Given the description of an element on the screen output the (x, y) to click on. 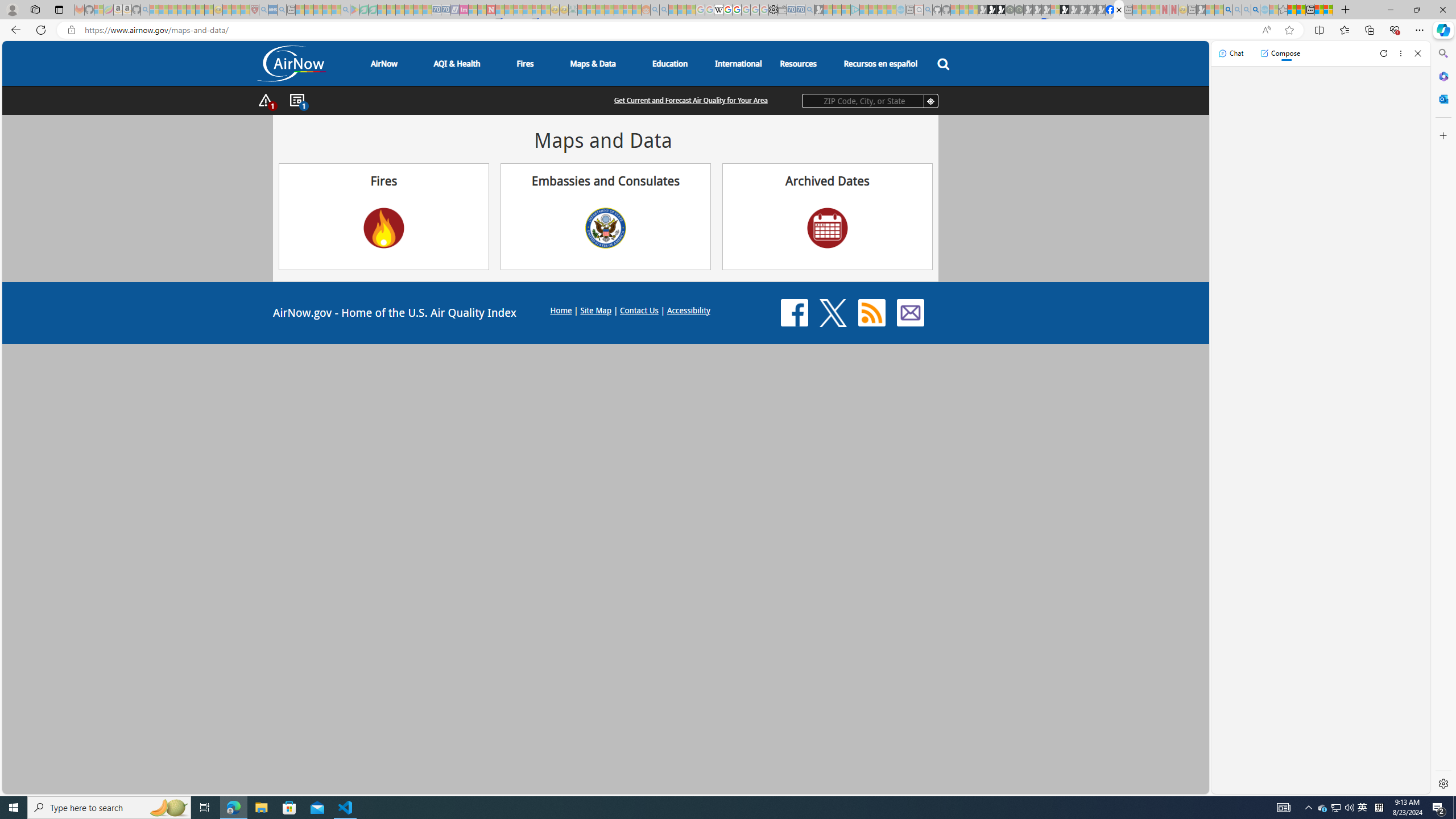
Fires Fire Icon (383, 216)
Privacy Help Center - Policies Help (726, 9)
Air Now Logo (291, 62)
